Given the description of an element on the screen output the (x, y) to click on. 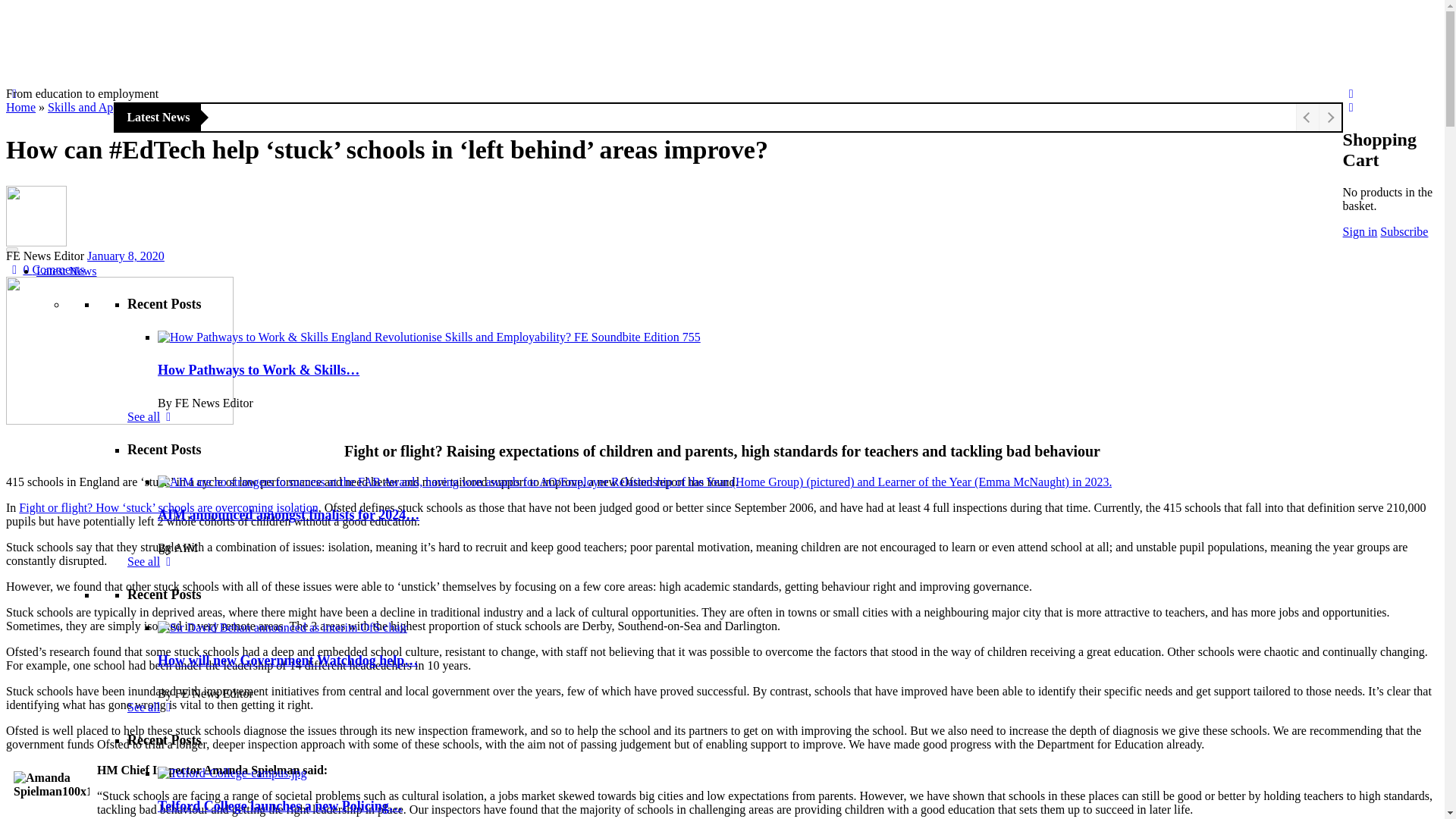
See all (152, 416)
Sign in (1359, 231)
Subscribe (1404, 231)
See all (152, 561)
See all (152, 707)
Latest News (66, 270)
